Given the description of an element on the screen output the (x, y) to click on. 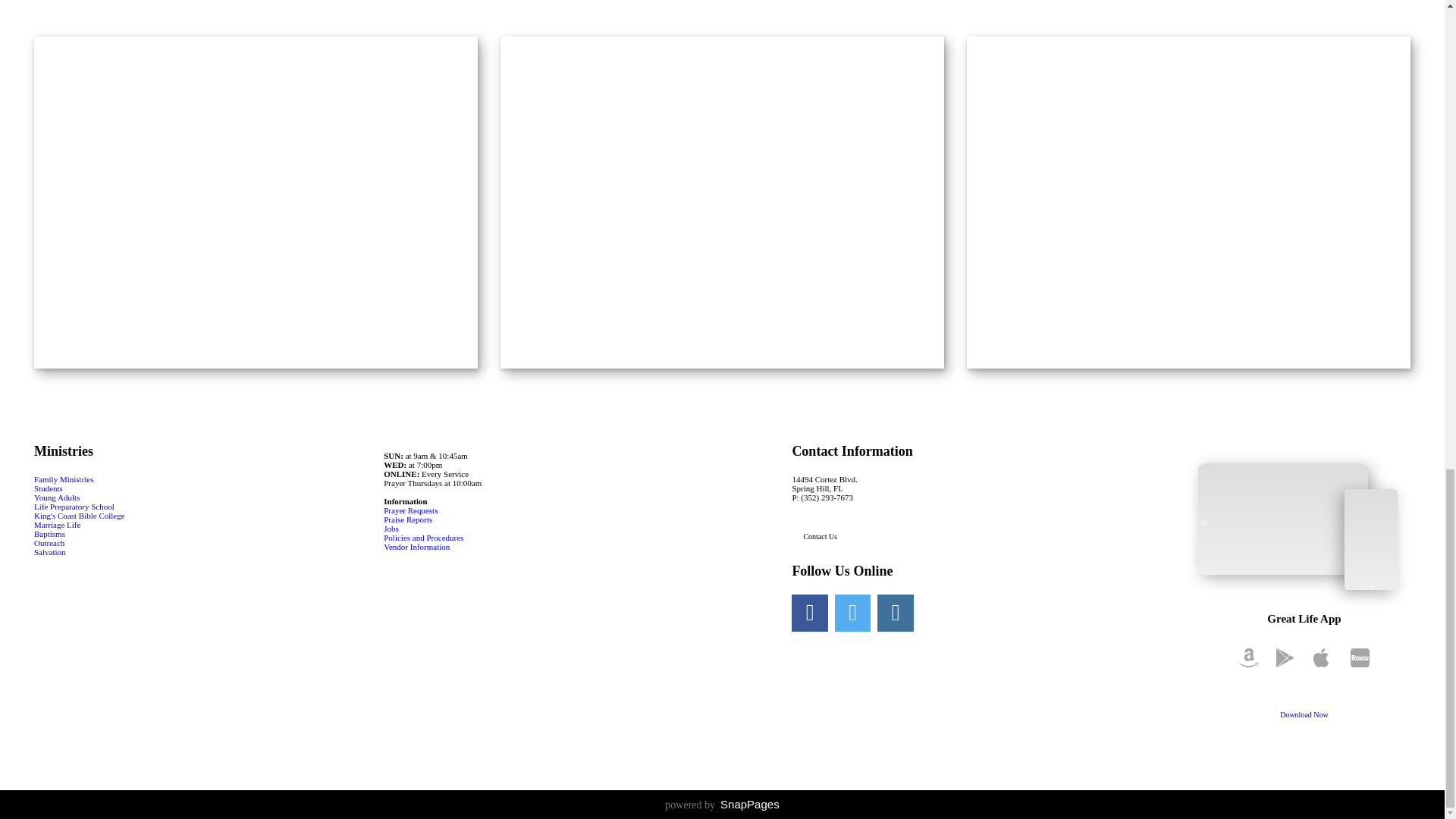
powered by SnapPages Website Builder (721, 804)
